Given the description of an element on the screen output the (x, y) to click on. 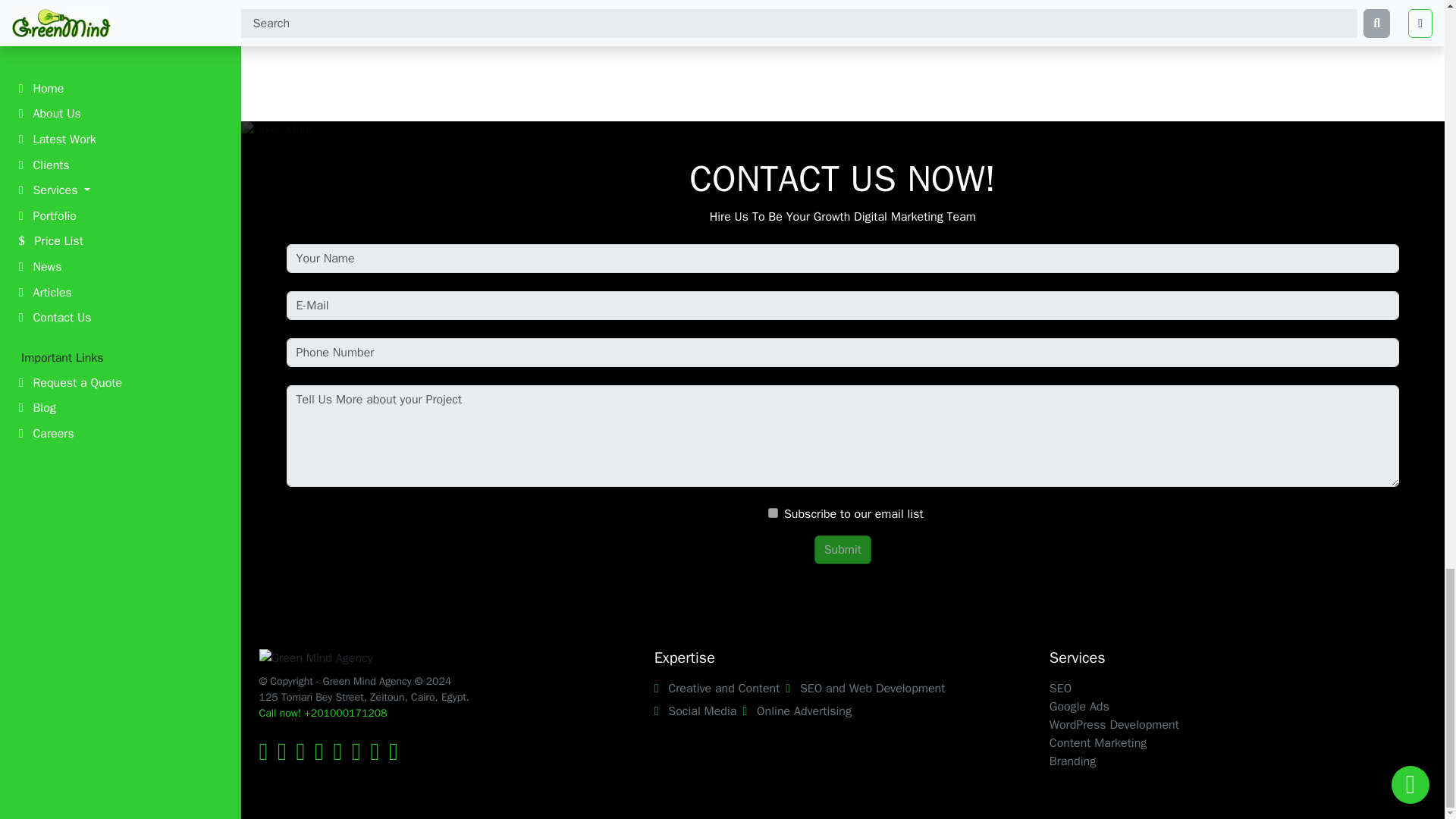
Submit (841, 549)
Subscribe to our email list (772, 512)
